Given the description of an element on the screen output the (x, y) to click on. 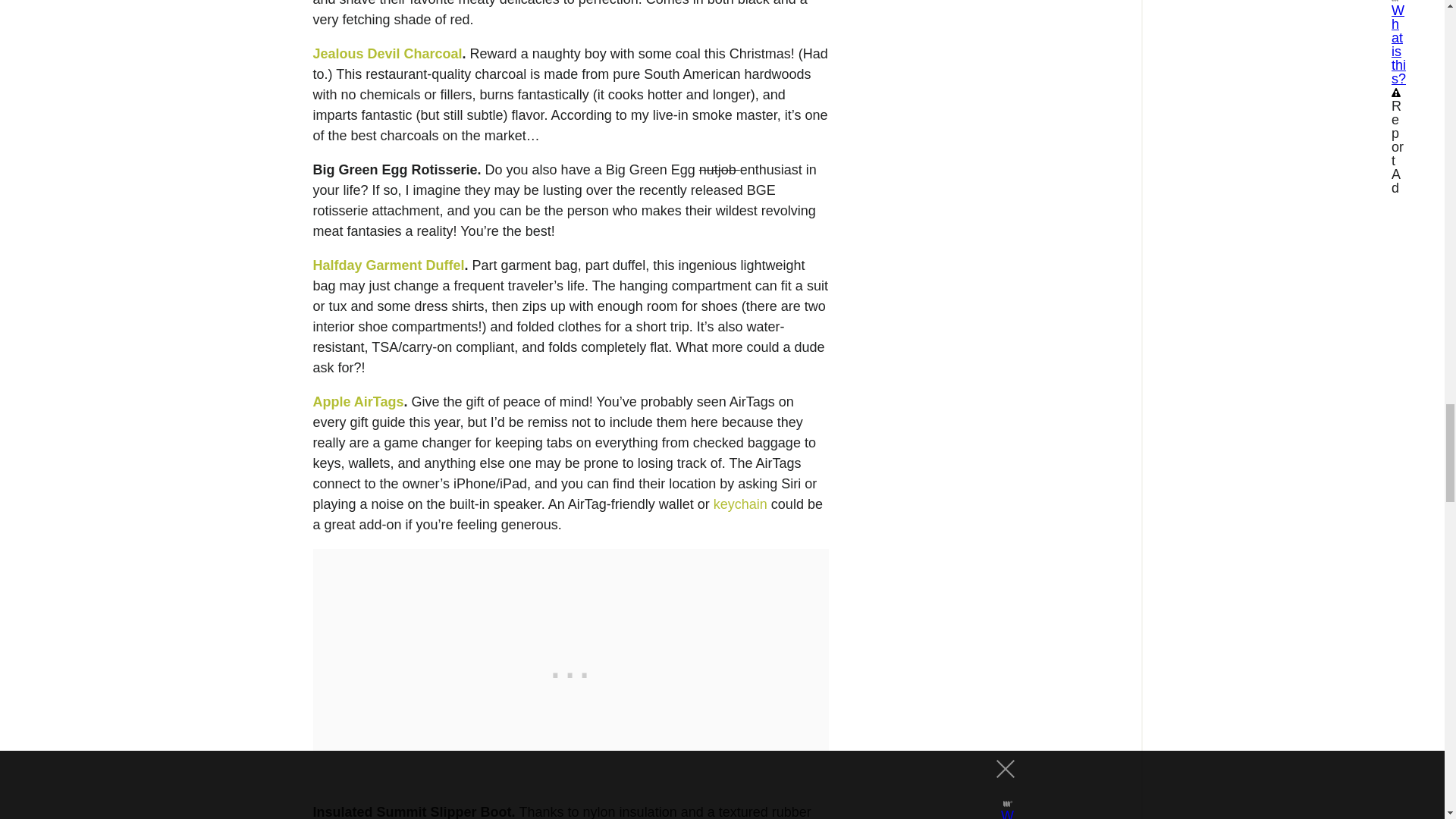
Jealous Devil Charcoal (387, 53)
